Given the description of an element on the screen output the (x, y) to click on. 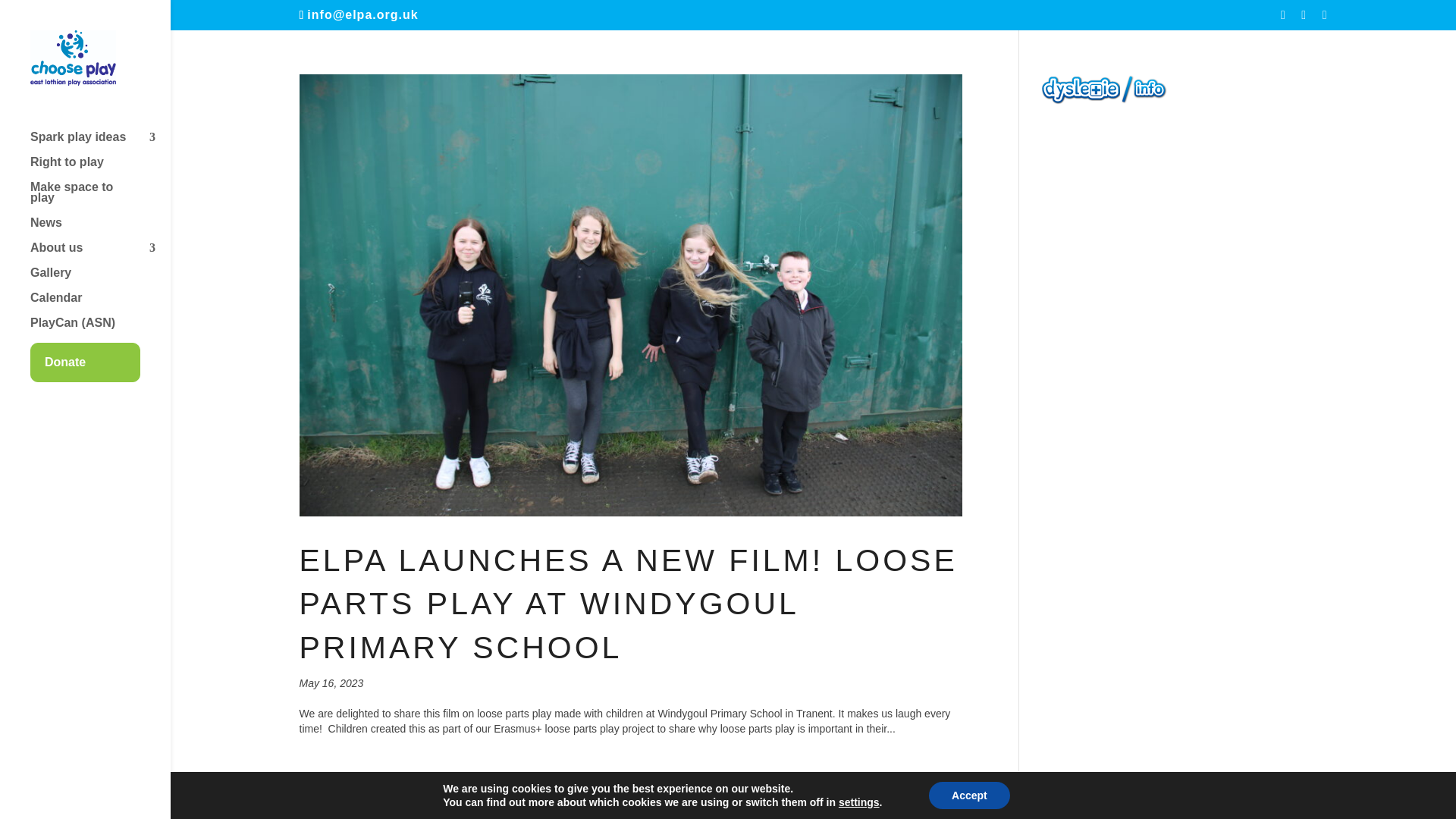
Right to play (100, 169)
Website DyslexieFont.com (1143, 101)
Spark play ideas (100, 144)
About us (100, 254)
Donate (100, 362)
Make space to play (100, 199)
Activate dyslexie webplugin (1080, 101)
Calendar (100, 304)
Gallery (100, 279)
Likebox Iframe (1184, 203)
News (100, 229)
